Given the description of an element on the screen output the (x, y) to click on. 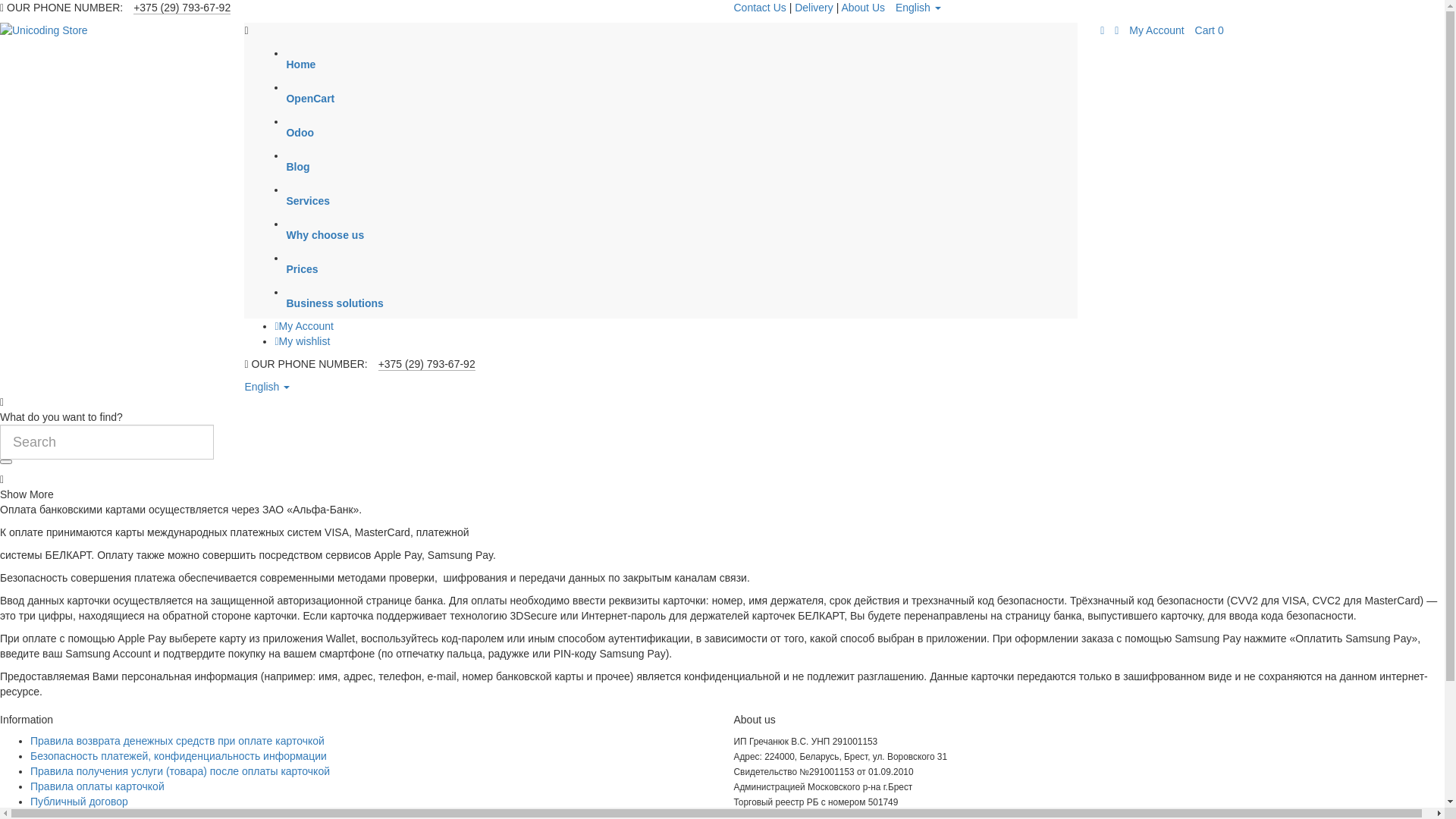
My Account Element type: text (1156, 30)
OpenCart Element type: text (702, 99)
Odoo Element type: text (702, 133)
English Element type: text (918, 7)
Blog Element type: text (702, 167)
Why choose us Element type: text (702, 236)
My Account Element type: text (303, 326)
Services Element type: text (702, 202)
Home Element type: text (702, 65)
Business solutions Element type: text (702, 304)
My wishlist Element type: text (301, 341)
Contact Us Element type: text (760, 7)
Unicoding Store Element type: hover (110, 29)
English Element type: text (266, 386)
Delivery Element type: text (814, 7)
Prices Element type: text (702, 270)
About Us Element type: text (862, 7)
Cart 0 Element type: text (1209, 30)
